Given the description of an element on the screen output the (x, y) to click on. 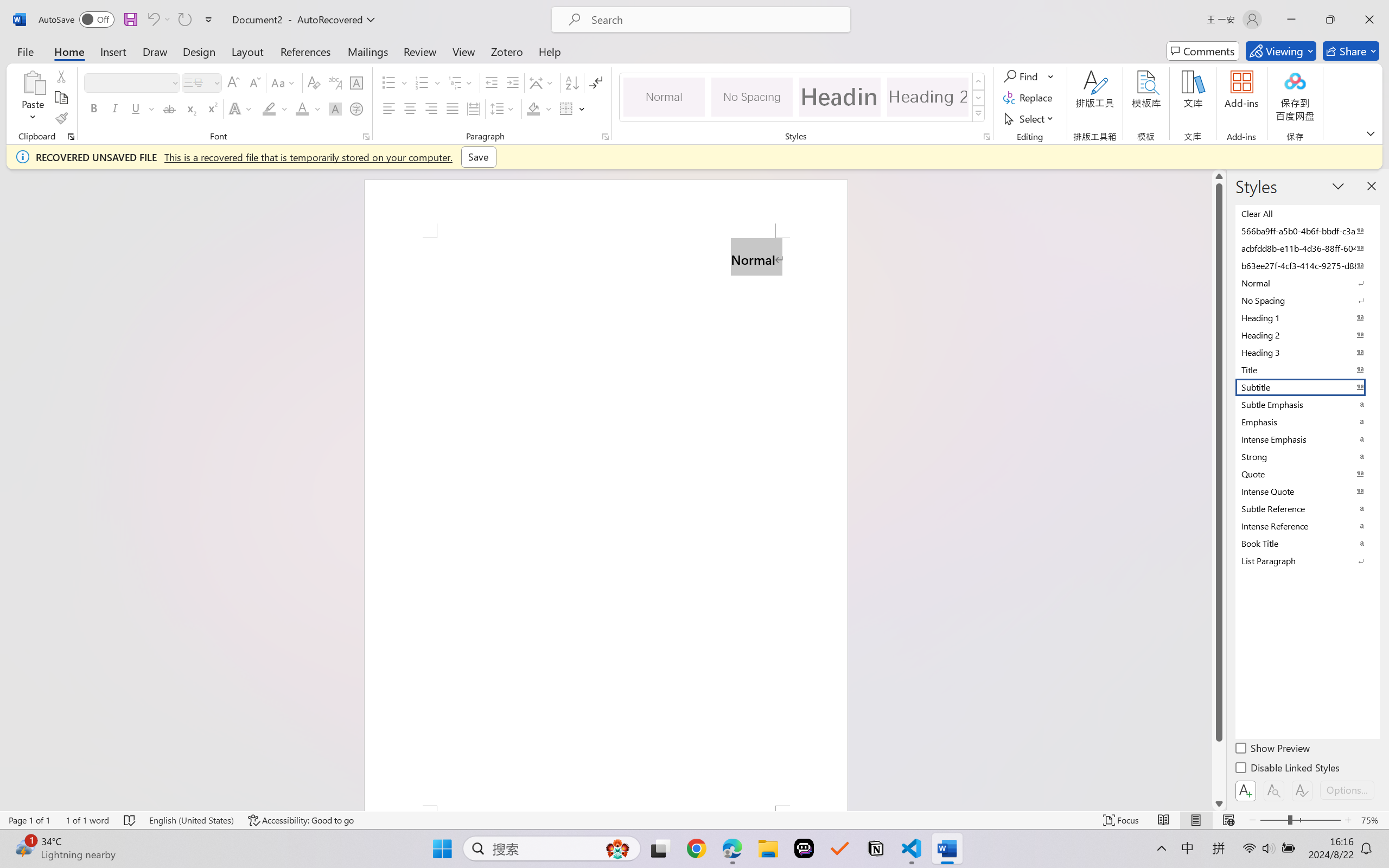
Intense Emphasis (1306, 438)
Bold (94, 108)
Disable Linked Styles (1287, 769)
Superscript (210, 108)
Character Border (356, 82)
Text Effects and Typography (241, 108)
Book Title (1306, 543)
Row Down (978, 97)
b63ee27f-4cf3-414c-9275-d88e3f90795e (1306, 265)
